Given the description of an element on the screen output the (x, y) to click on. 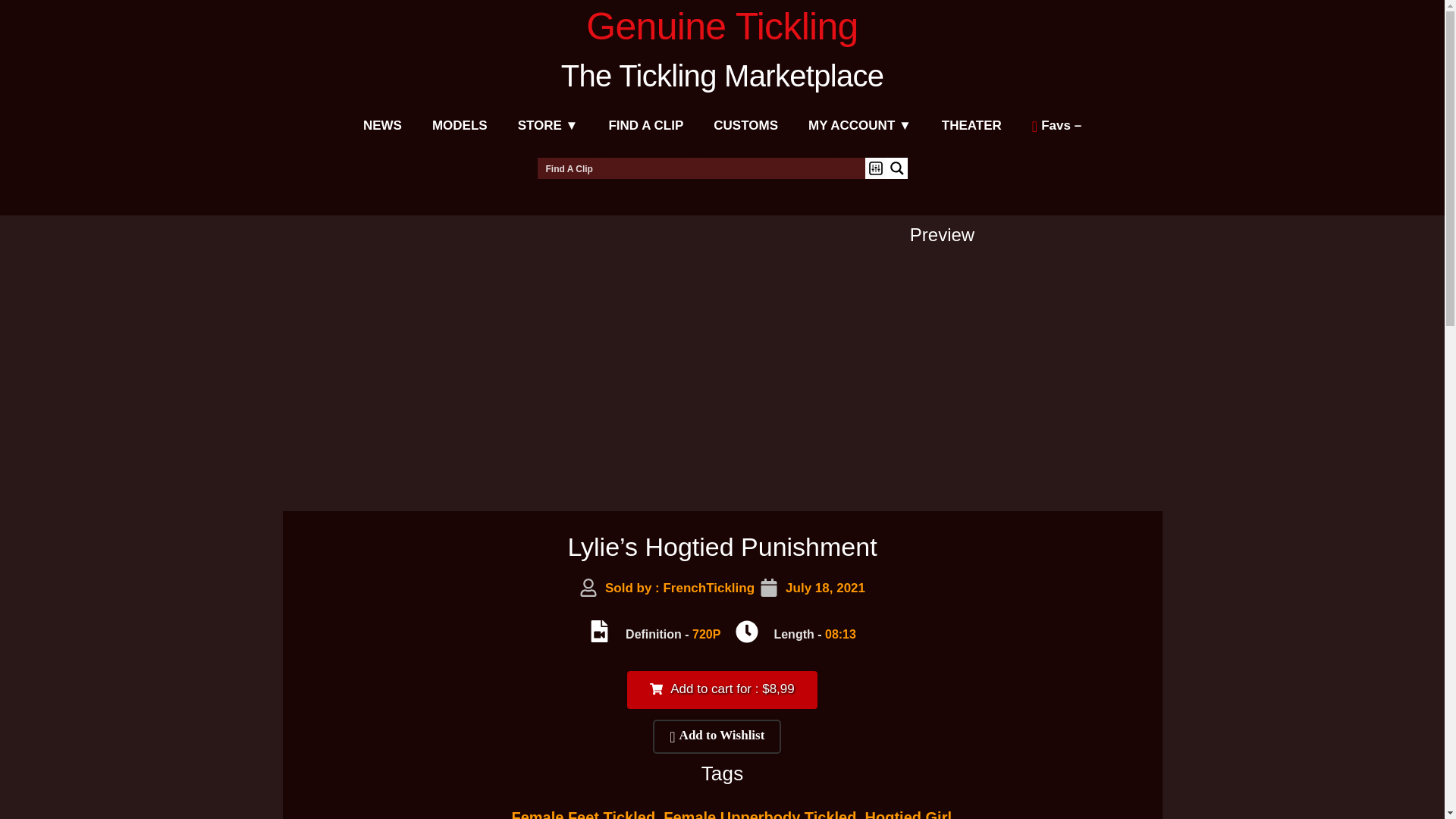
NEWS (381, 125)
Genuine Tickling (721, 25)
CUSTOMS (745, 125)
MODELS (459, 125)
The Tickling Marketplace (721, 75)
FIND A CLIP (645, 125)
THEATER (971, 125)
